Given the description of an element on the screen output the (x, y) to click on. 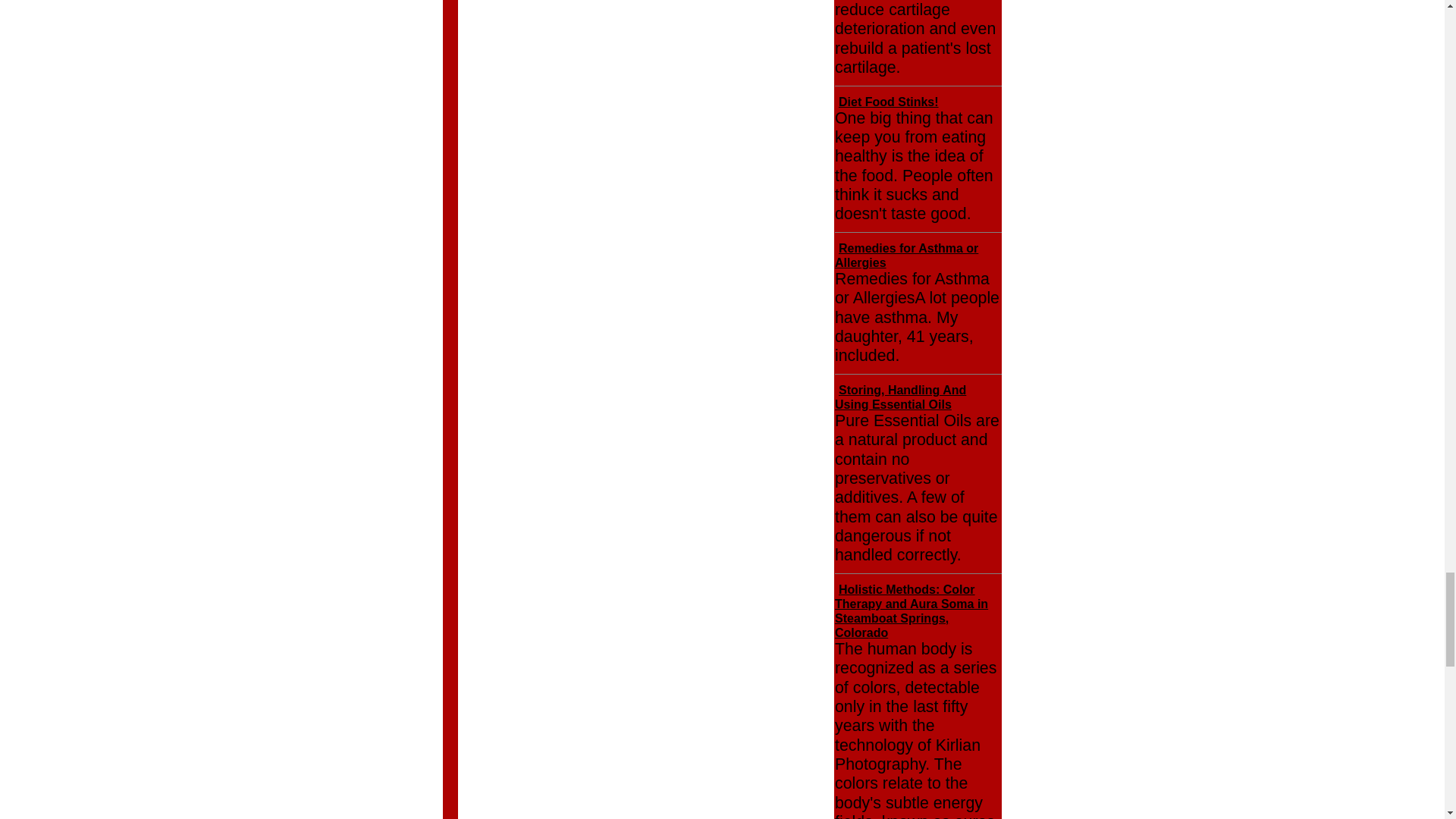
Diet Food Stinks! (888, 101)
Storing, Handling And Using Essential Oils (900, 397)
Remedies for Asthma or Allergies (906, 255)
